Given the description of an element on the screen output the (x, y) to click on. 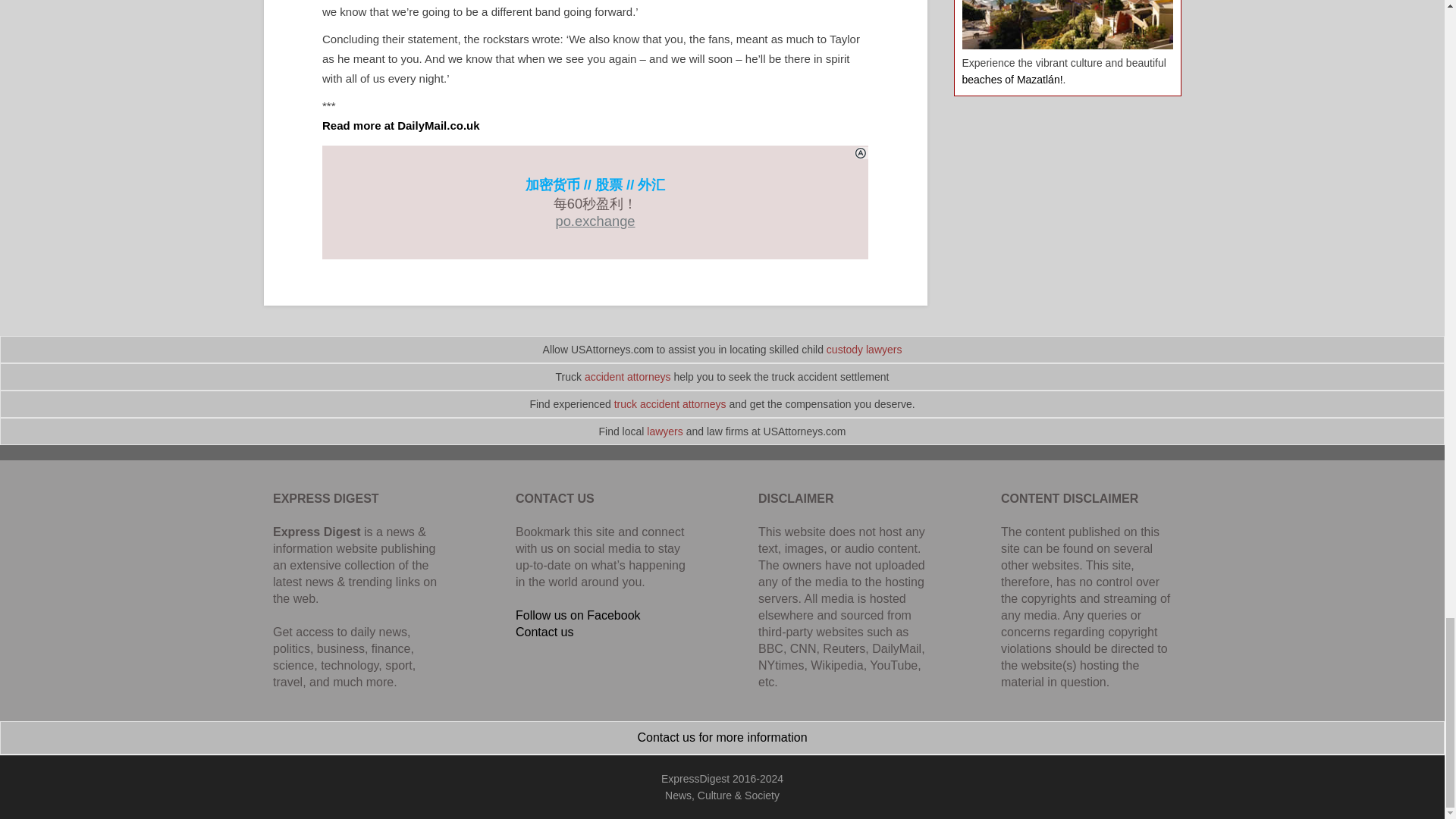
lawyers (664, 431)
custody lawyers (864, 349)
accident attorneys (628, 377)
truck accident attorneys (670, 404)
Read more at DailyMail.co.uk (400, 124)
